Given the description of an element on the screen output the (x, y) to click on. 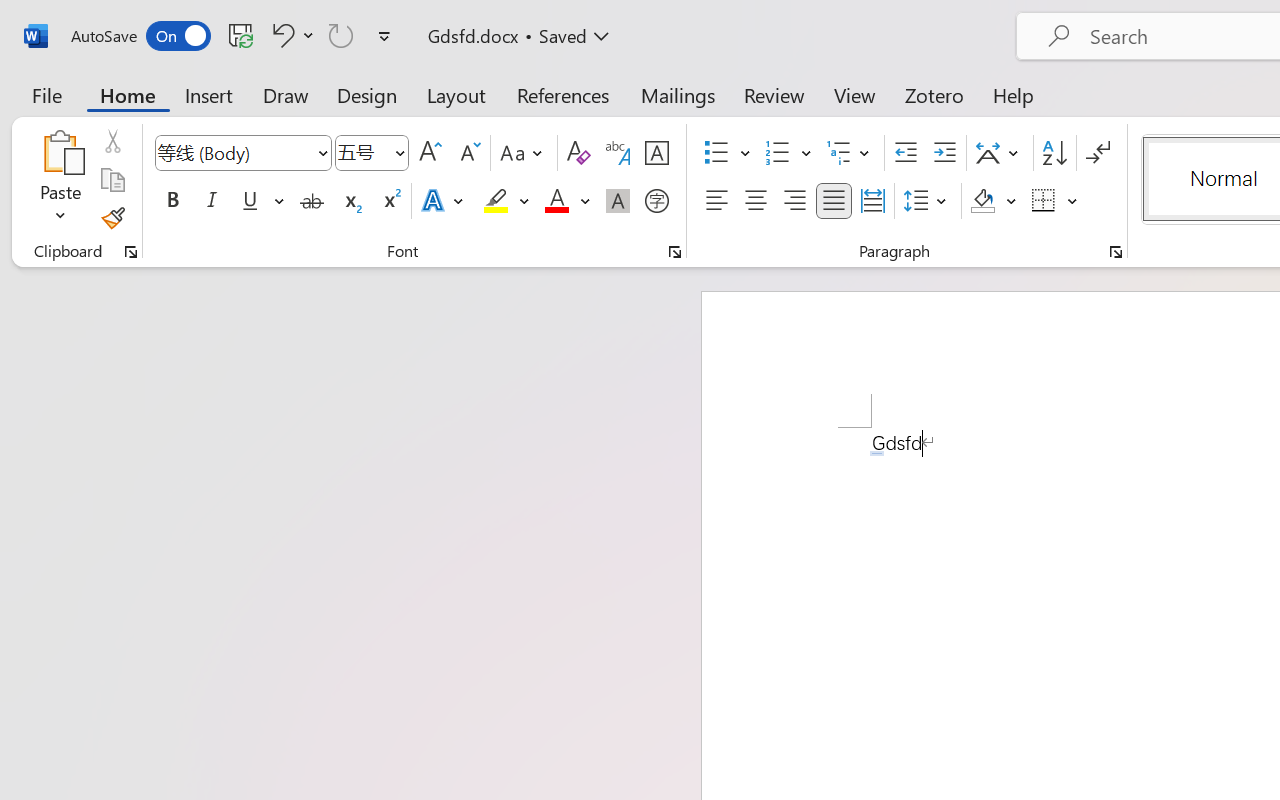
Grow Font (430, 153)
